Given the description of an element on the screen output the (x, y) to click on. 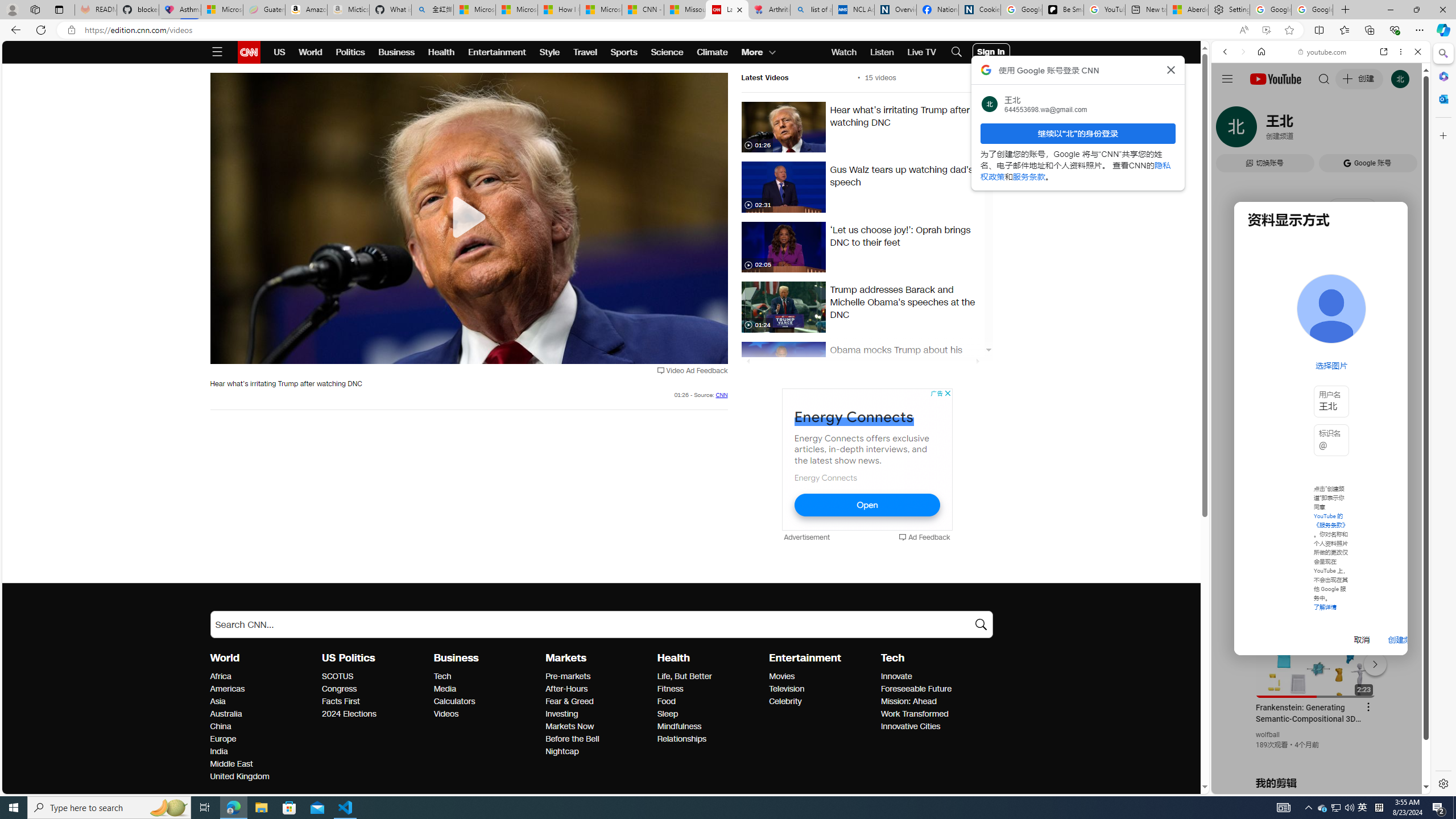
Entertainment Movies (781, 676)
Nightcap (598, 751)
Live TV (921, 52)
Trailer #2 [HD] (1320, 336)
Tech (485, 676)
Australia (262, 714)
United Kingdom (262, 776)
Music (1320, 309)
